Given the description of an element on the screen output the (x, y) to click on. 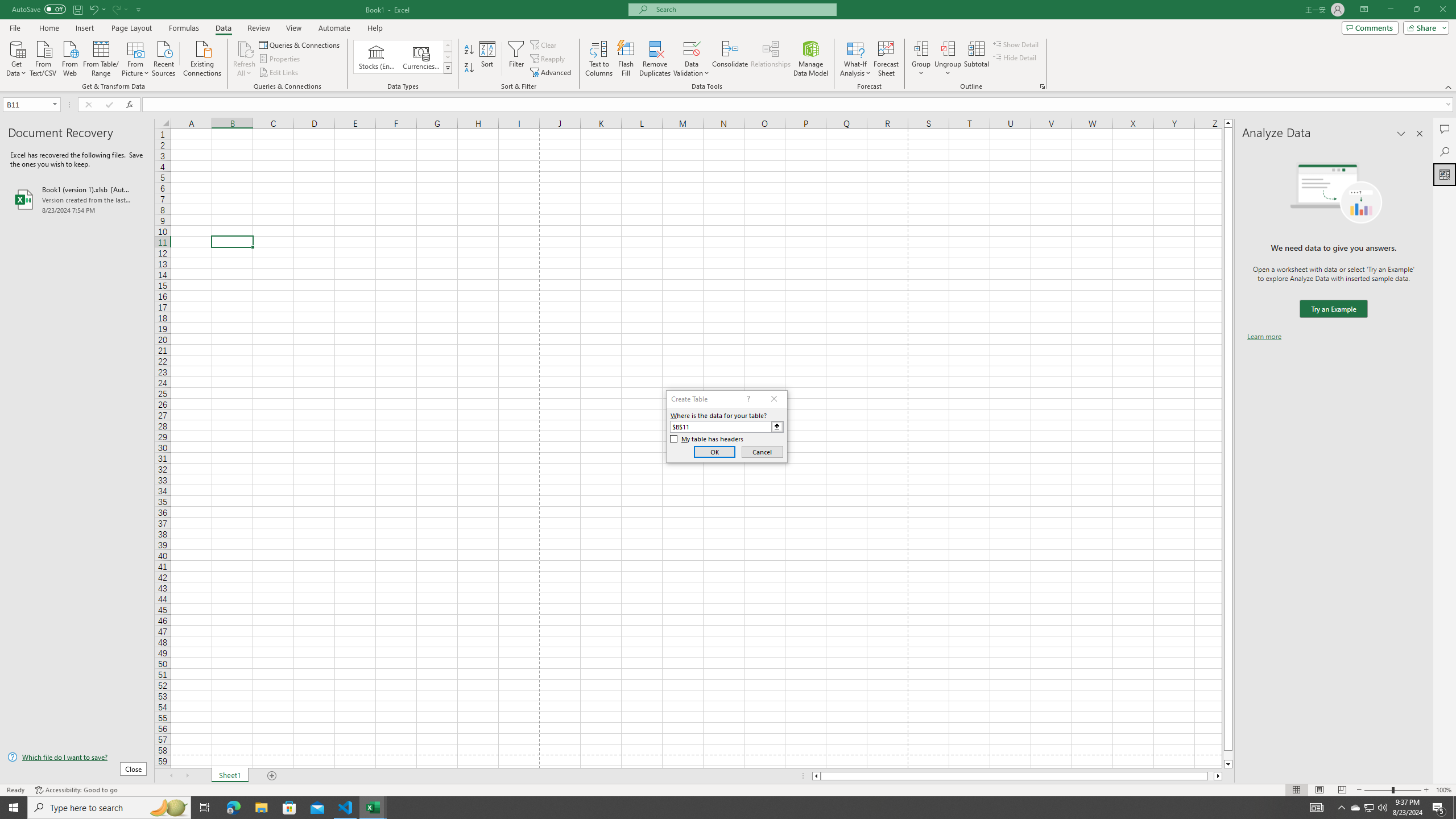
Queries & Connections (300, 44)
Existing Connections (202, 57)
Group... (921, 58)
Which file do I want to save? (77, 757)
Remove Duplicates (654, 58)
Group... (921, 48)
Data Validation... (691, 48)
Hide Detail (1014, 56)
Group and Outline Settings (1042, 85)
Ungroup... (947, 58)
Text to Columns... (598, 58)
Analyze Data (1444, 173)
